Given the description of an element on the screen output the (x, y) to click on. 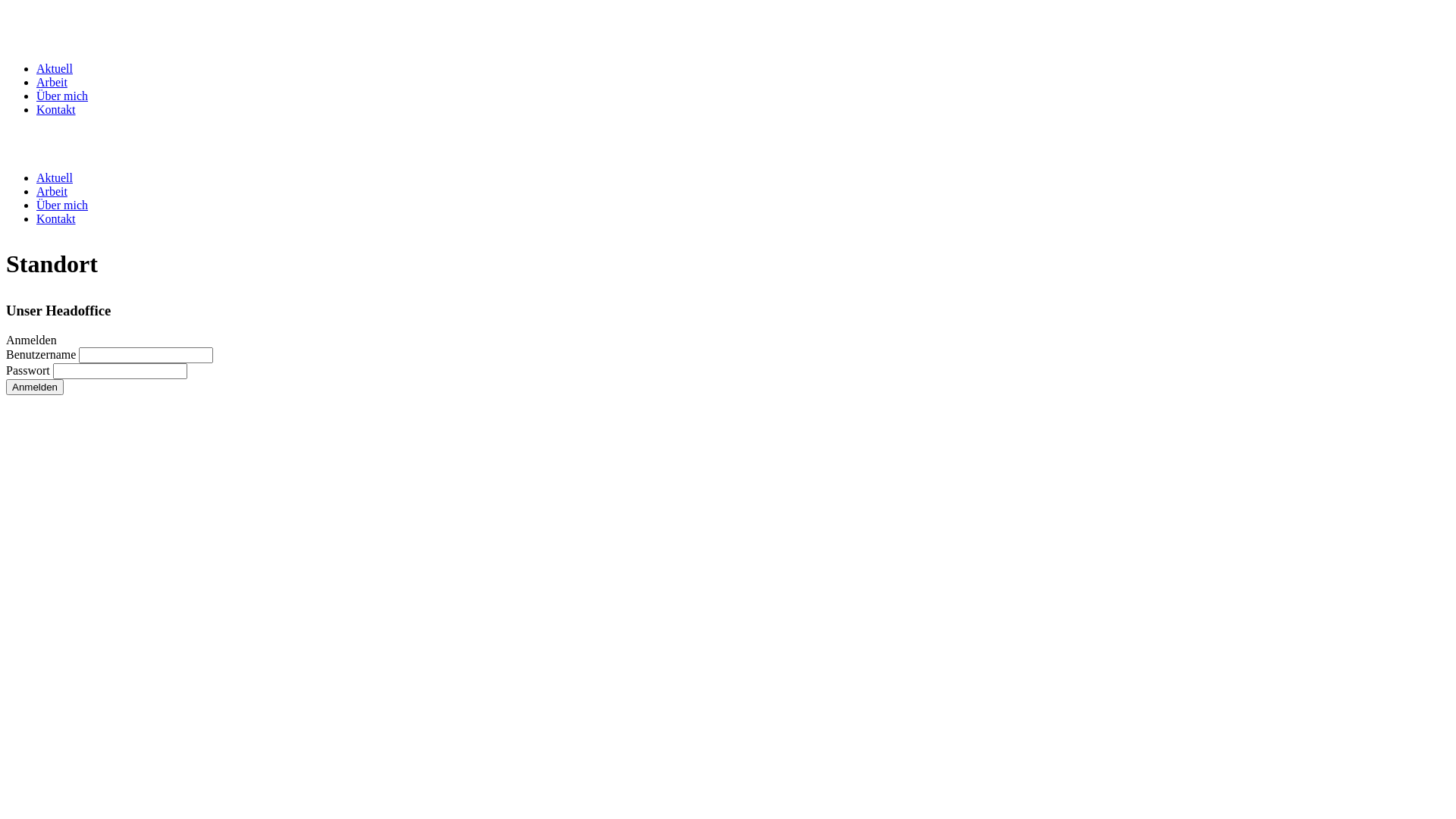
Kontakt Element type: text (55, 218)
Arbeit Element type: text (51, 191)
Aktuell Element type: text (54, 177)
Kontakt Element type: text (55, 109)
Aktuell Element type: text (54, 68)
Anmelden Element type: text (34, 387)
Arbeit Element type: text (51, 81)
